Given the description of an element on the screen output the (x, y) to click on. 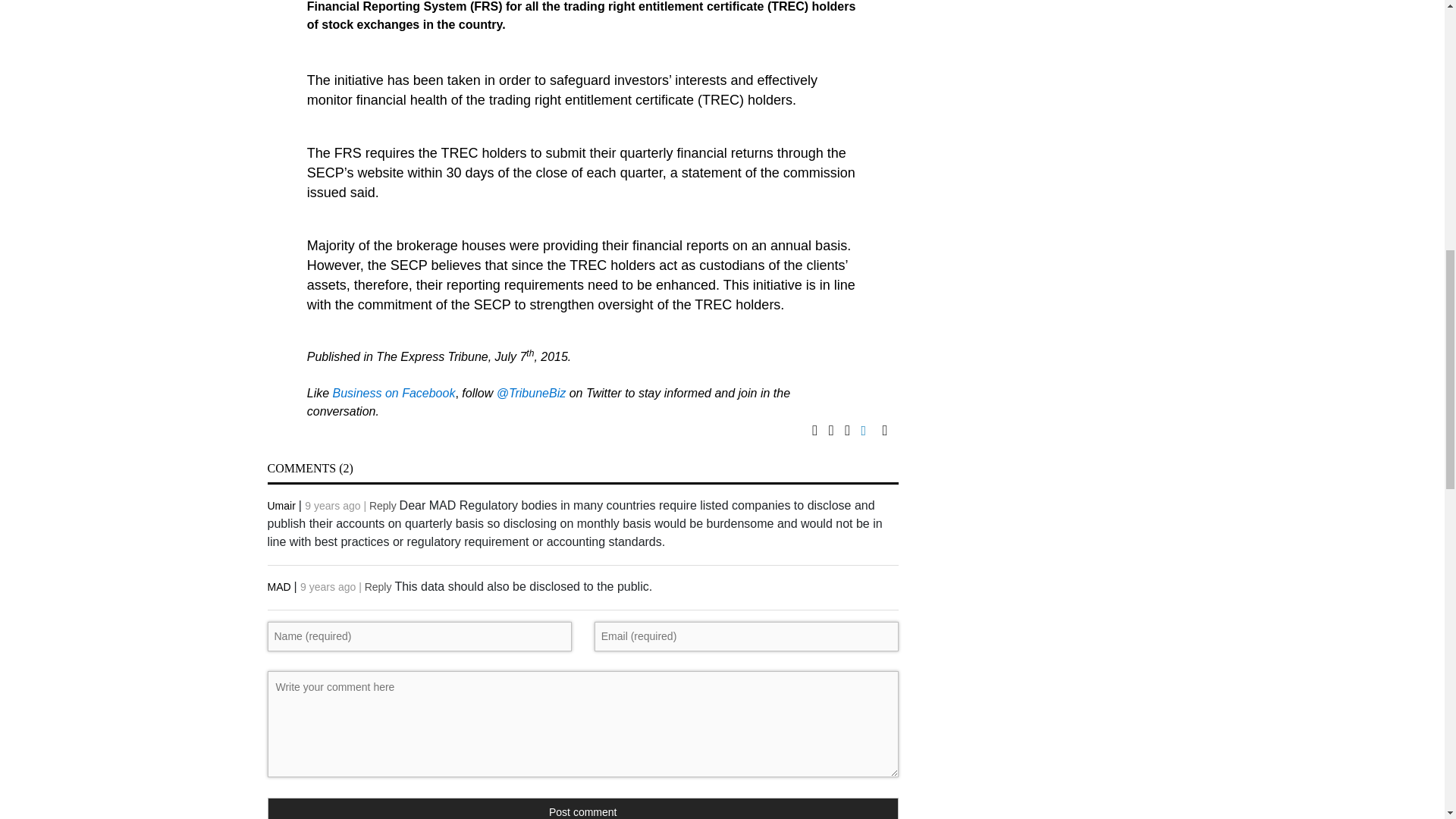
Post comment (582, 808)
Business on Facebook (394, 392)
linkded (871, 431)
Post comment (582, 808)
